Given the description of an element on the screen output the (x, y) to click on. 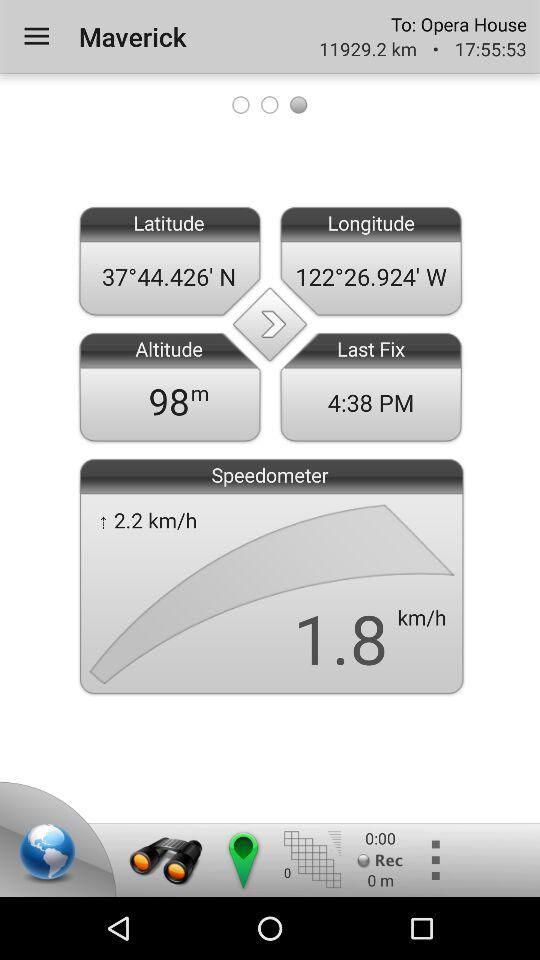
record the time (380, 860)
